Given the description of an element on the screen output the (x, y) to click on. 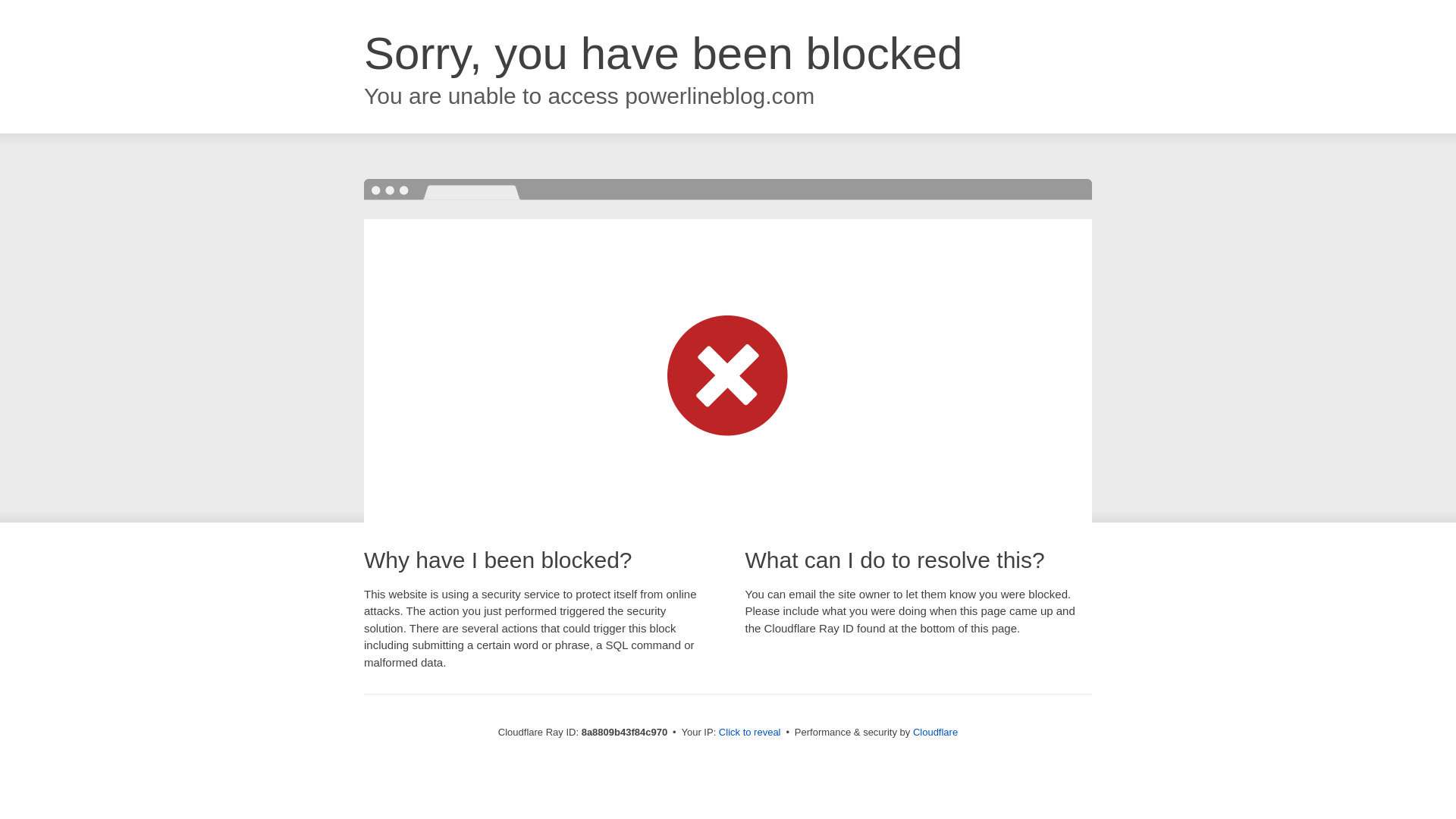
Click to reveal (749, 732)
Cloudflare (935, 731)
